Given the description of an element on the screen output the (x, y) to click on. 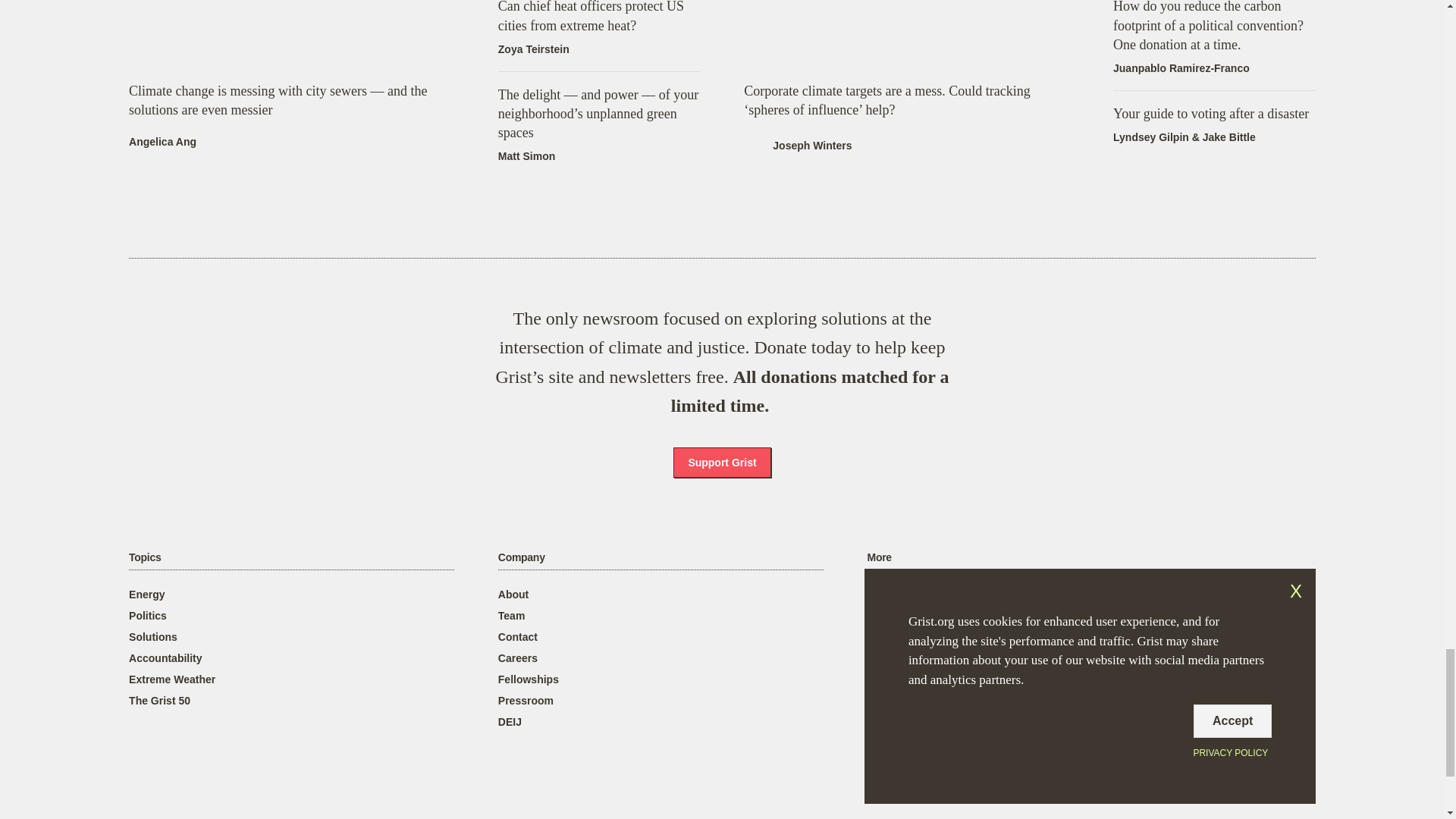
Topics (144, 557)
More (879, 557)
Company (520, 557)
